Given the description of an element on the screen output the (x, y) to click on. 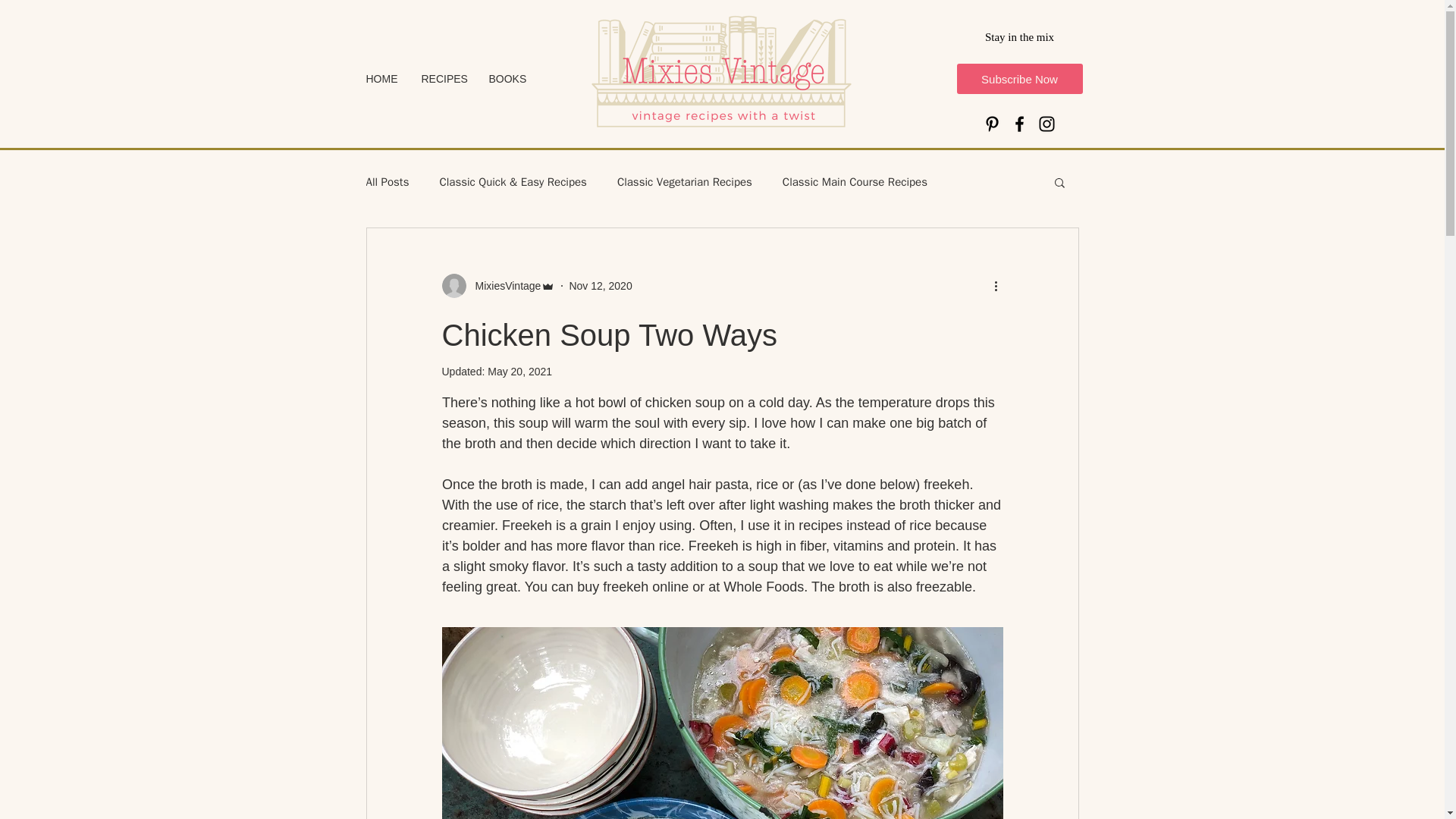
MixiesVintage (502, 285)
May 20, 2021 (519, 371)
Nov 12, 2020 (600, 285)
Classic Vegetarian Recipes (684, 181)
Stay in the mix (1019, 37)
RECIPES (444, 79)
All Posts (387, 181)
Classic Main Course Recipes (855, 181)
Subscribe Now (1019, 78)
HOME (382, 79)
BOOKS (508, 79)
MixiesVintage (497, 285)
